Given the description of an element on the screen output the (x, y) to click on. 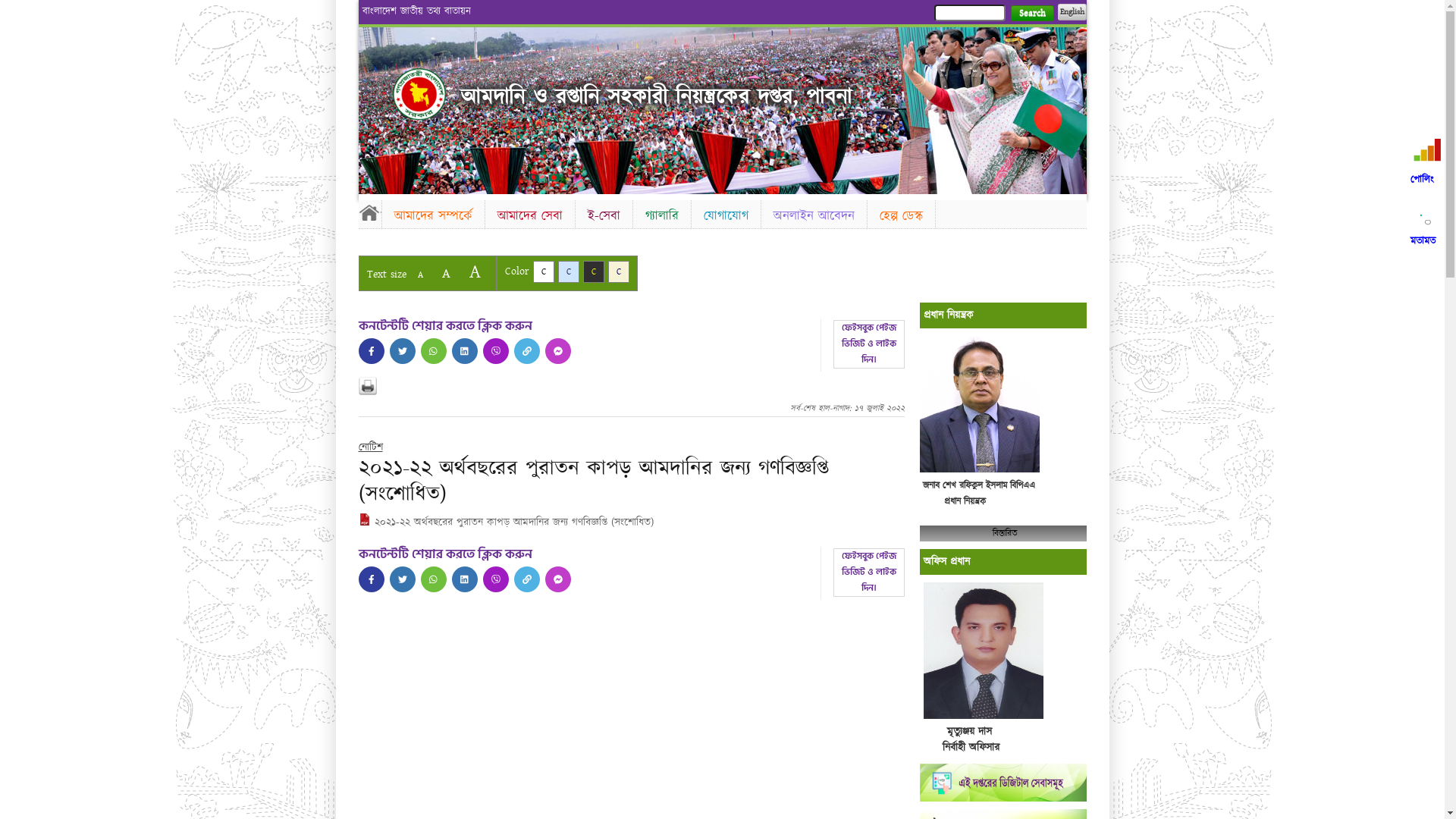
C Element type: text (592, 271)
Home Element type: hover (368, 211)
A Element type: text (419, 274)
Search Element type: text (1031, 13)
A Element type: text (445, 273)
A Element type: text (474, 271)
C Element type: text (618, 271)
C Element type: text (568, 271)
English Element type: text (1071, 11)
C Element type: text (542, 271)
Home Element type: hover (418, 93)
